Given the description of an element on the screen output the (x, y) to click on. 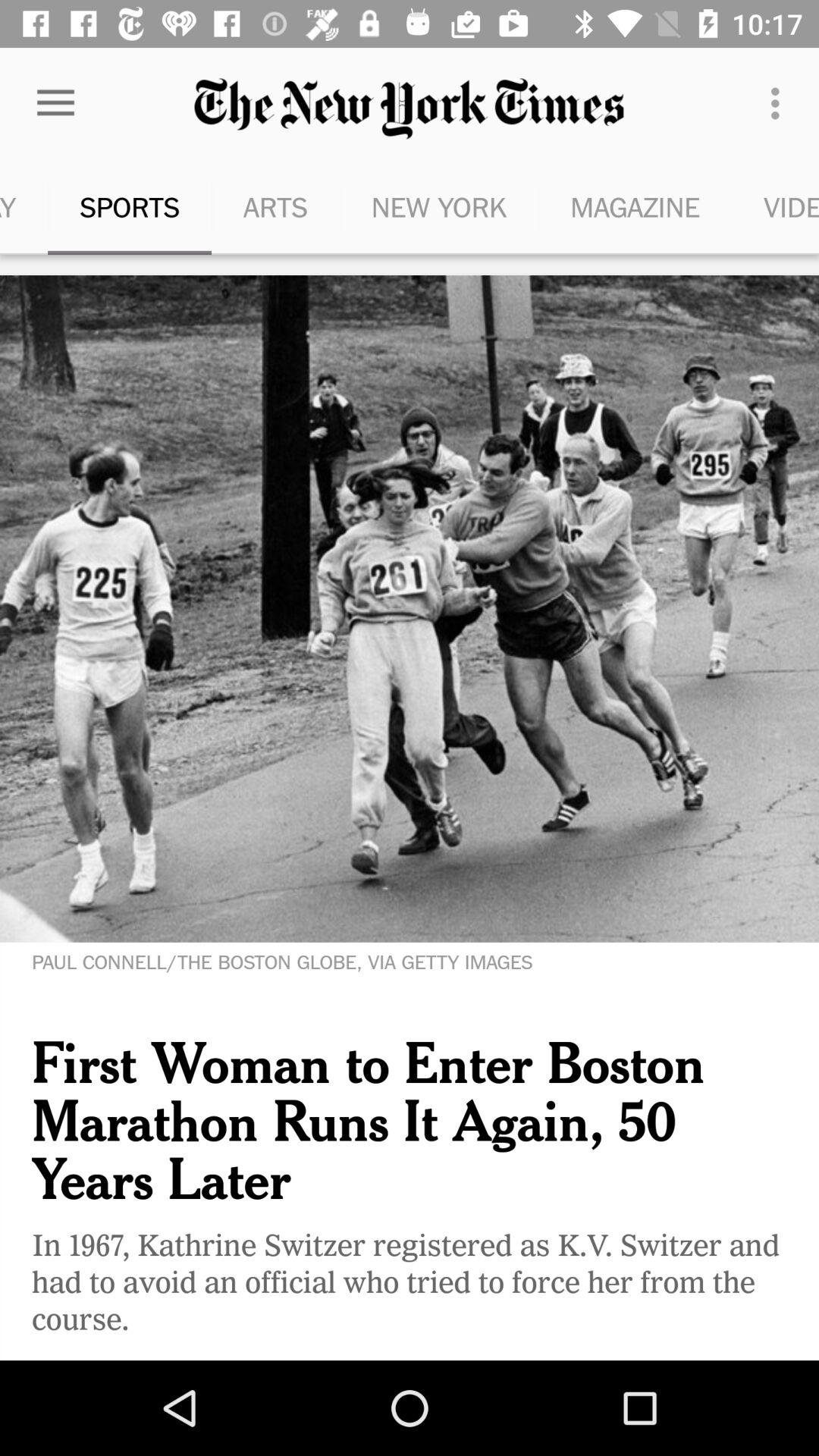
launch business day (23, 206)
